Given the description of an element on the screen output the (x, y) to click on. 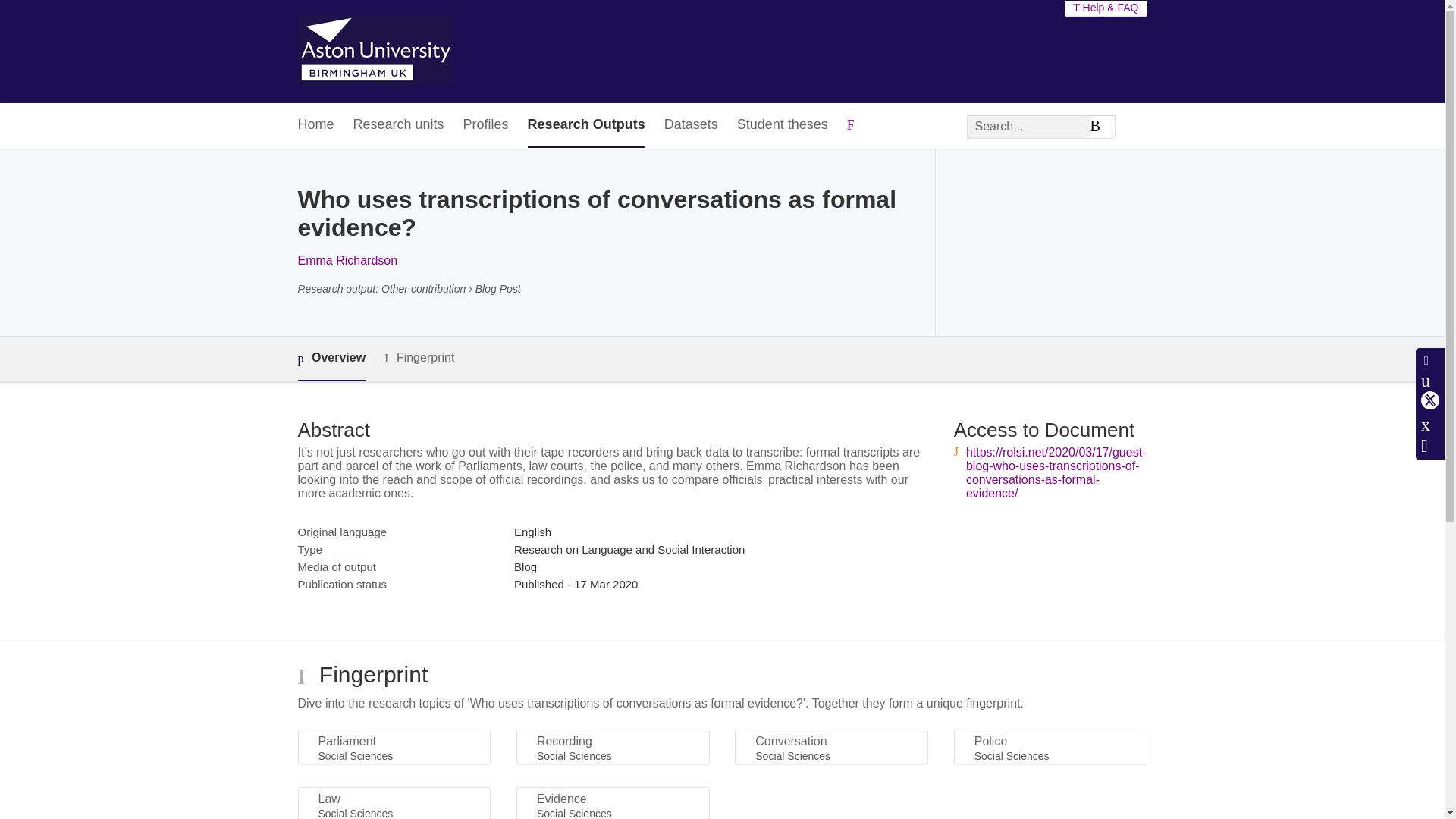
Research units (398, 125)
Overview (331, 358)
Fingerprint (419, 358)
Student theses (782, 125)
Aston Research Explorer Home (374, 51)
Research Outputs (586, 125)
Emma Richardson (347, 259)
Profiles (485, 125)
Datasets (690, 125)
